Given the description of an element on the screen output the (x, y) to click on. 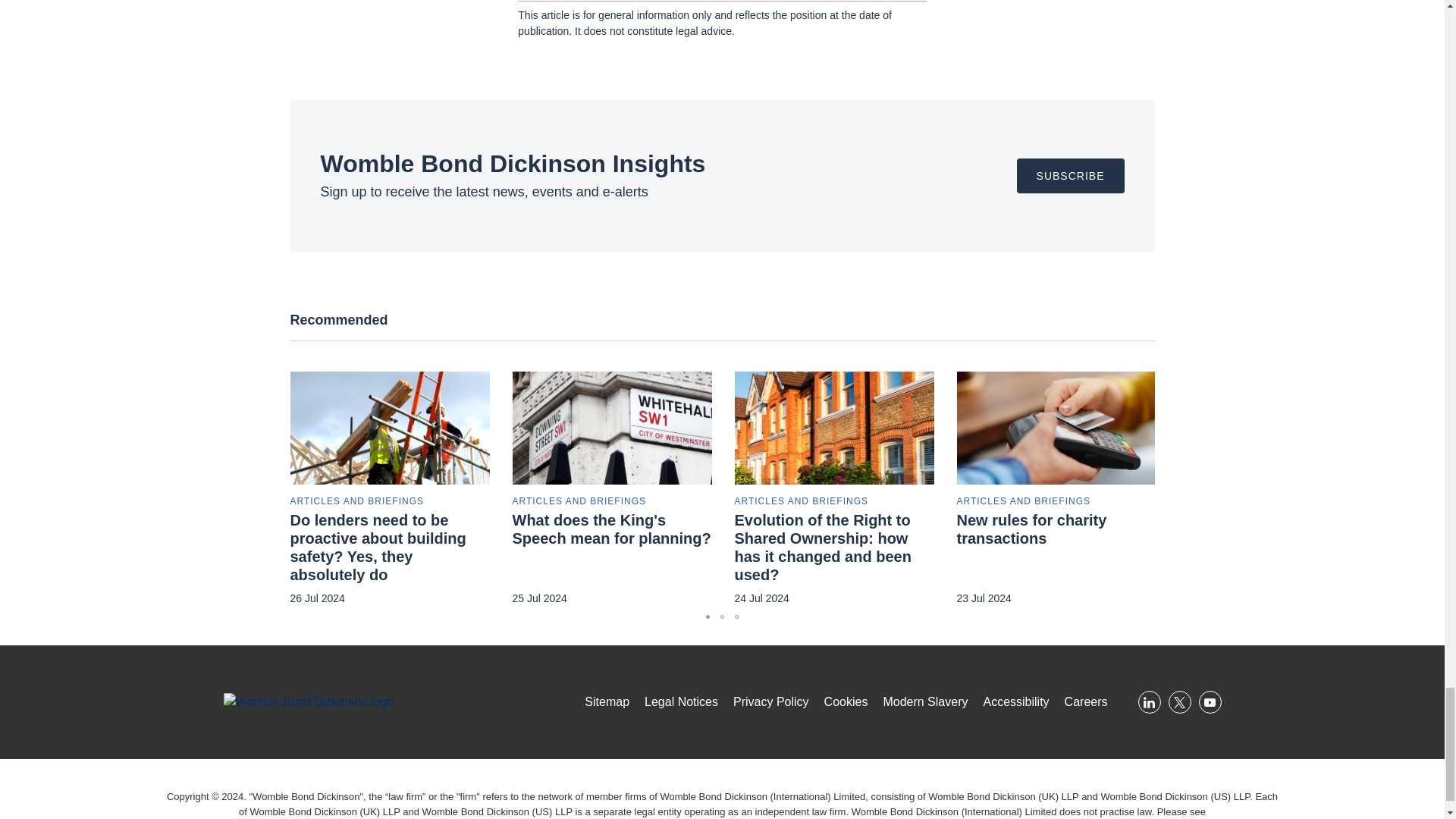
sign up to receive the latest news, events and e-alerts (1070, 175)
